Given the description of an element on the screen output the (x, y) to click on. 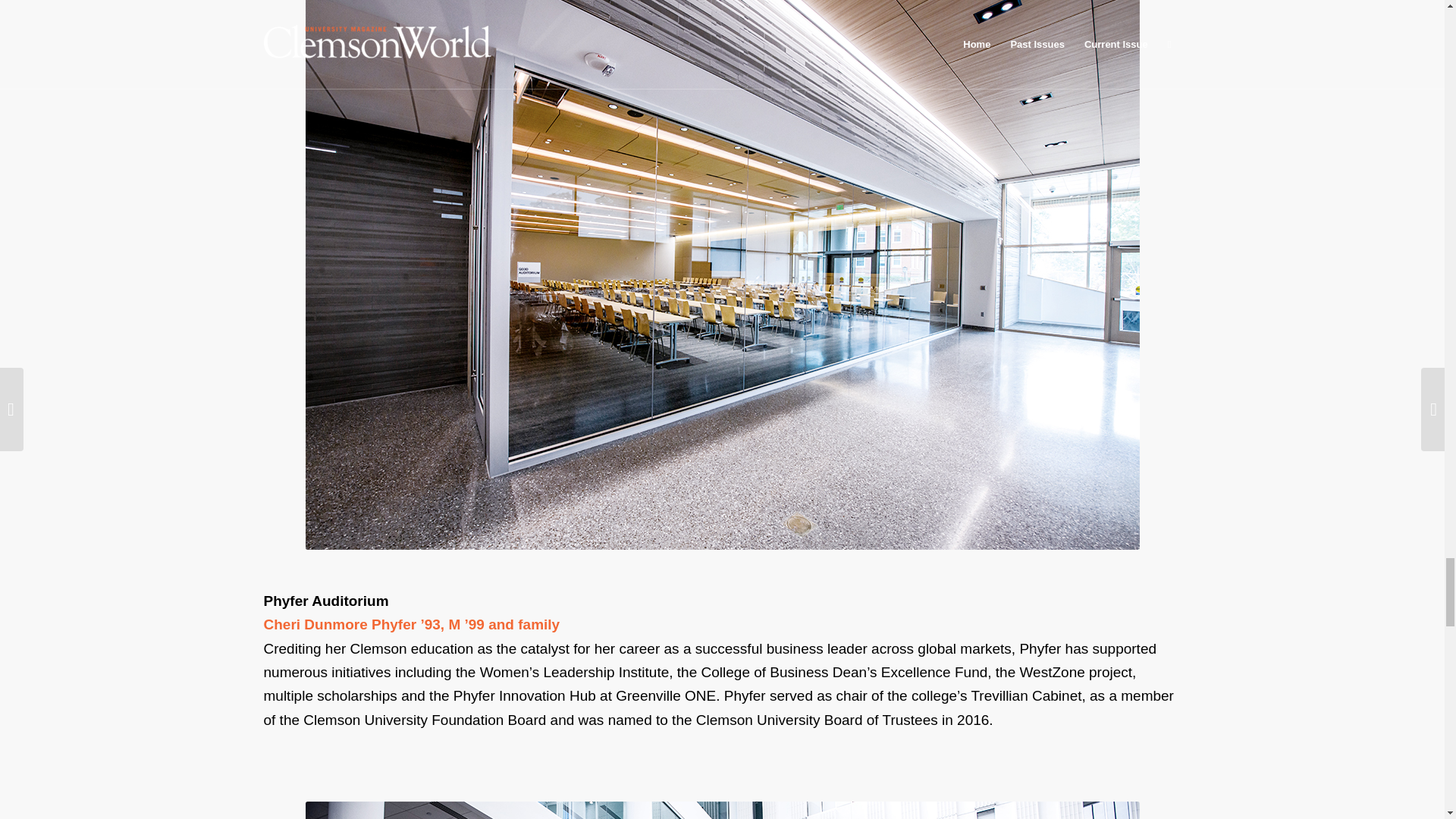
Richardson Atrium (721, 810)
